Given the description of an element on the screen output the (x, y) to click on. 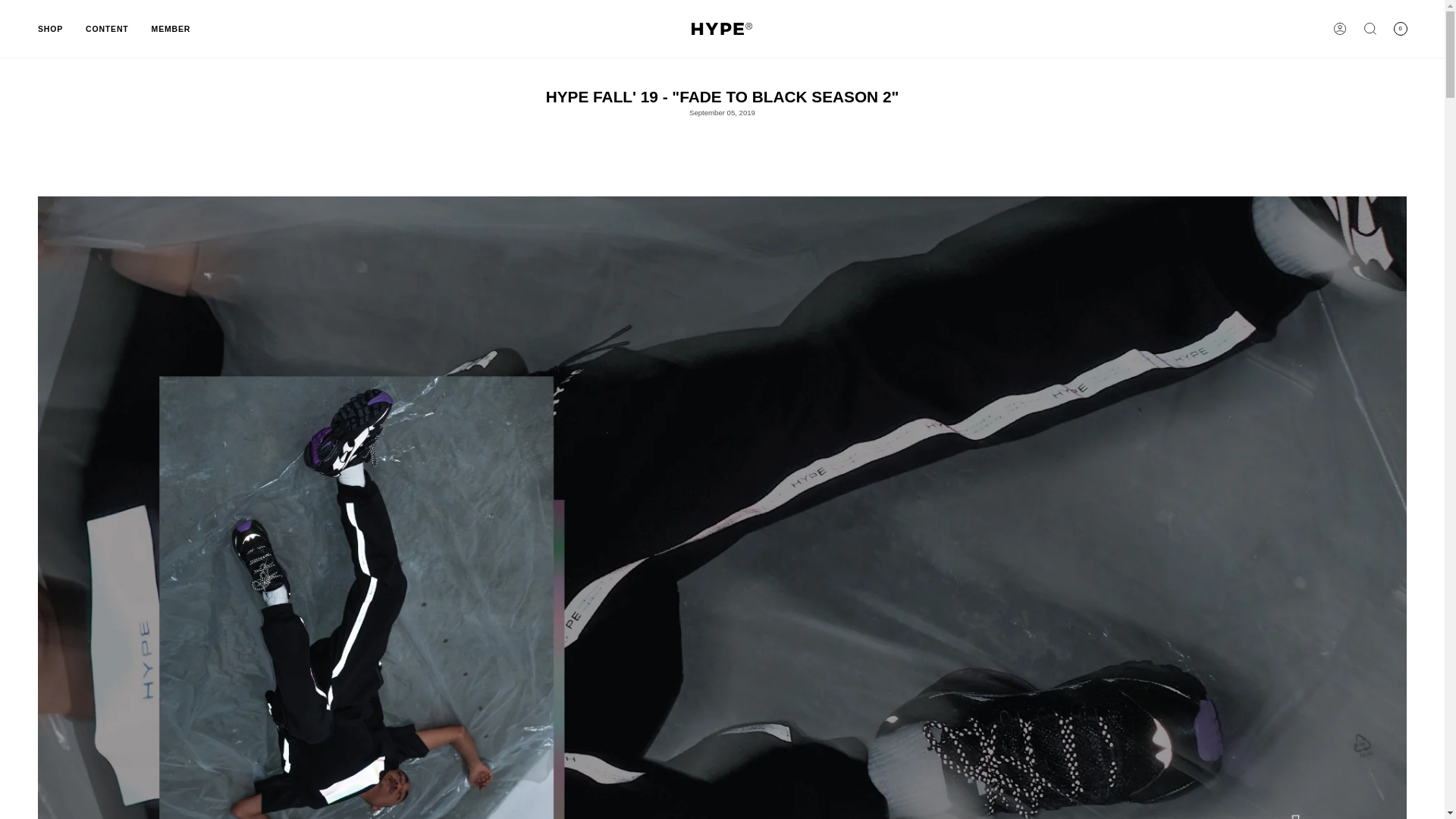
Search (1370, 28)
SHOP (50, 28)
My Account (1339, 28)
Cart (1400, 28)
